Given the description of an element on the screen output the (x, y) to click on. 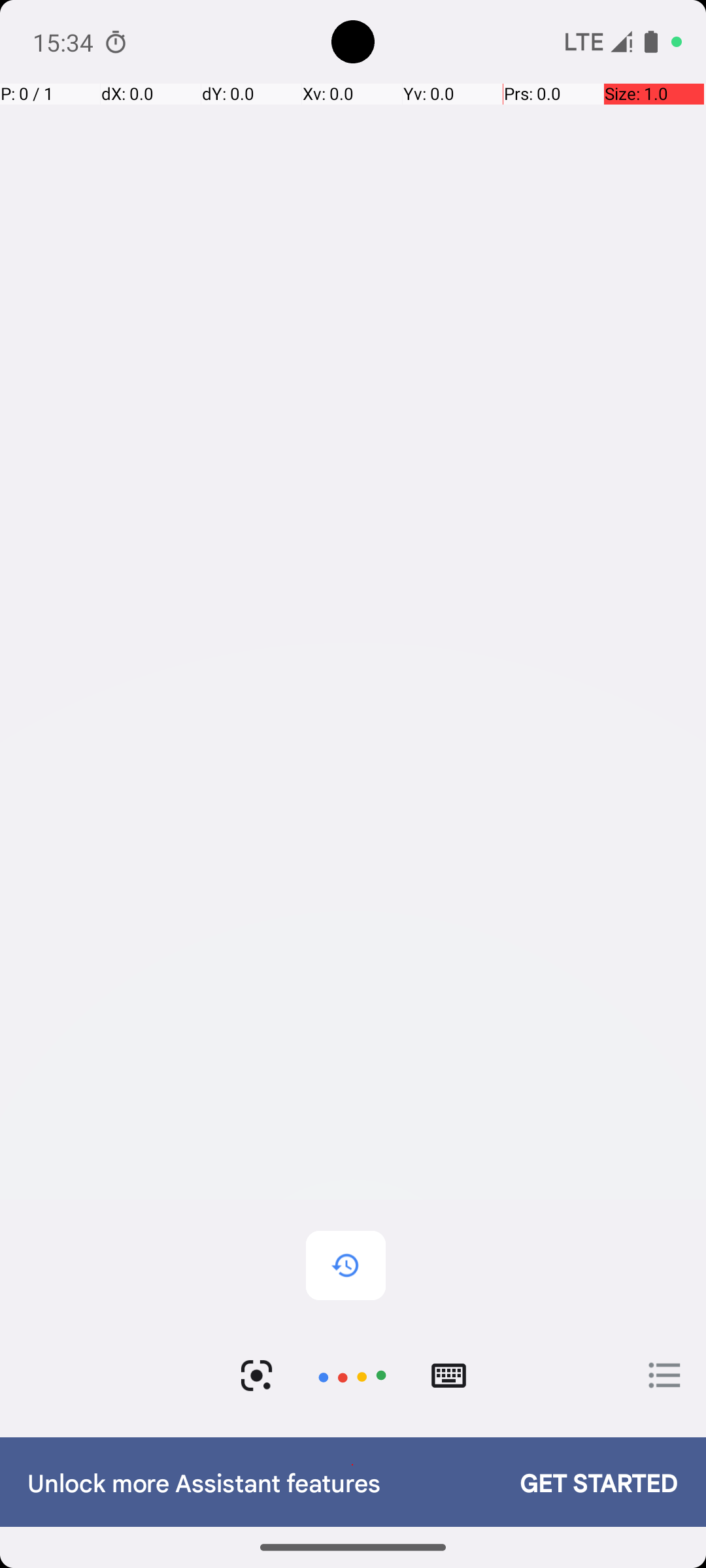
Tap to cancel Element type: android.view.View (351, 1375)
Unlock more Assistant features Element type: android.widget.TextView (259, 1481)
GET STARTED Element type: android.widget.TextView (585, 1481)
